Given the description of an element on the screen output the (x, y) to click on. 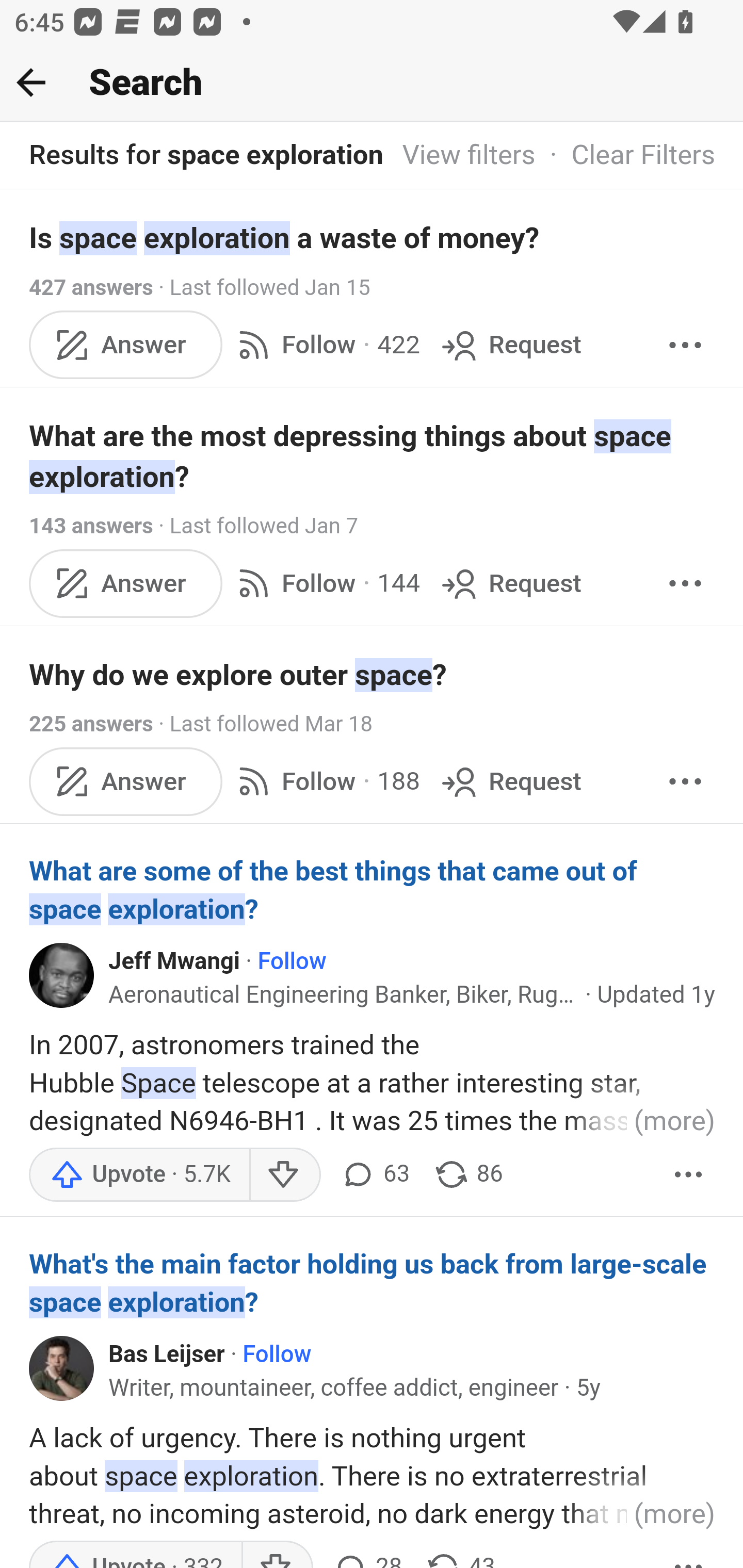
Back Search (371, 82)
Back (30, 82)
View filters (468, 155)
· Clear Filters · Clear Filters (625, 155)
Is space exploration a waste of money? (372, 237)
427 answers 427  answers (90, 287)
Answer (125, 343)
Follow · 422 (324, 343)
Request (509, 343)
More (684, 343)
143 answers 143  answers (90, 525)
Answer (125, 582)
Follow · 144 (324, 582)
Request (509, 582)
More (684, 582)
Why do we explore outer space? (372, 674)
225 answers 225  answers (90, 723)
Answer (125, 781)
Follow · 188 (324, 781)
Request (509, 781)
More (684, 781)
Profile photo for Jeff Mwangi (61, 974)
Jeff Mwangi (175, 961)
Follow (291, 961)
Updated 1y Updated  1 y (655, 995)
Upvote (138, 1174)
Downvote (283, 1174)
63 comments (374, 1174)
86 shares (467, 1174)
More (688, 1174)
Profile photo for Bas Leijser (61, 1367)
Bas Leijser (166, 1353)
Follow (277, 1353)
5y 5 y (588, 1389)
